Given the description of an element on the screen output the (x, y) to click on. 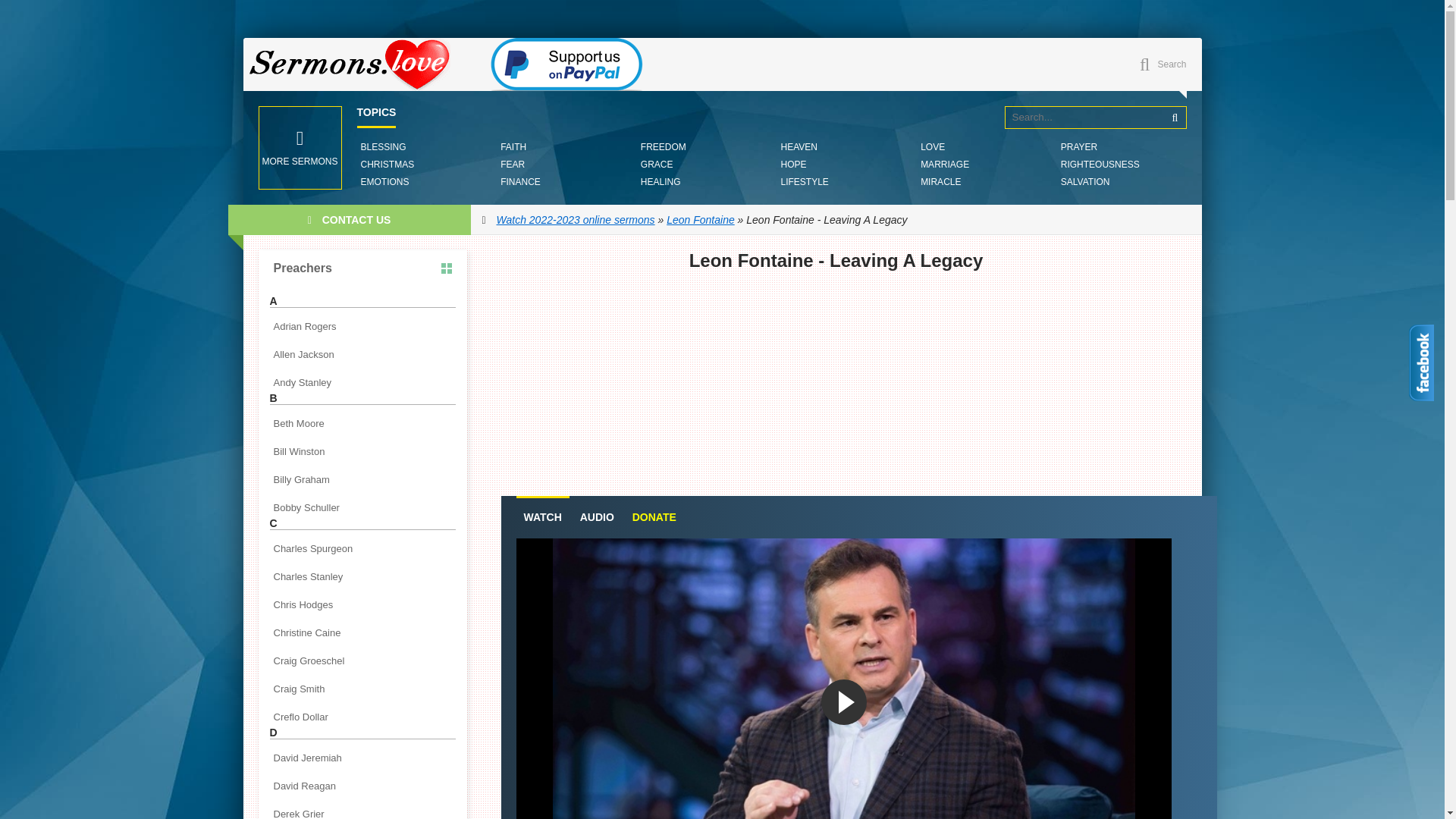
Allen Jackson (362, 353)
LOVE (933, 146)
CONTACT US (348, 219)
HEAVEN (798, 146)
DONATE (654, 517)
RIGHTEOUSNESS (1099, 164)
BLESSING (382, 146)
Adrian Rogers (362, 325)
MIRACLE (940, 181)
Search (1174, 117)
